Given the description of an element on the screen output the (x, y) to click on. 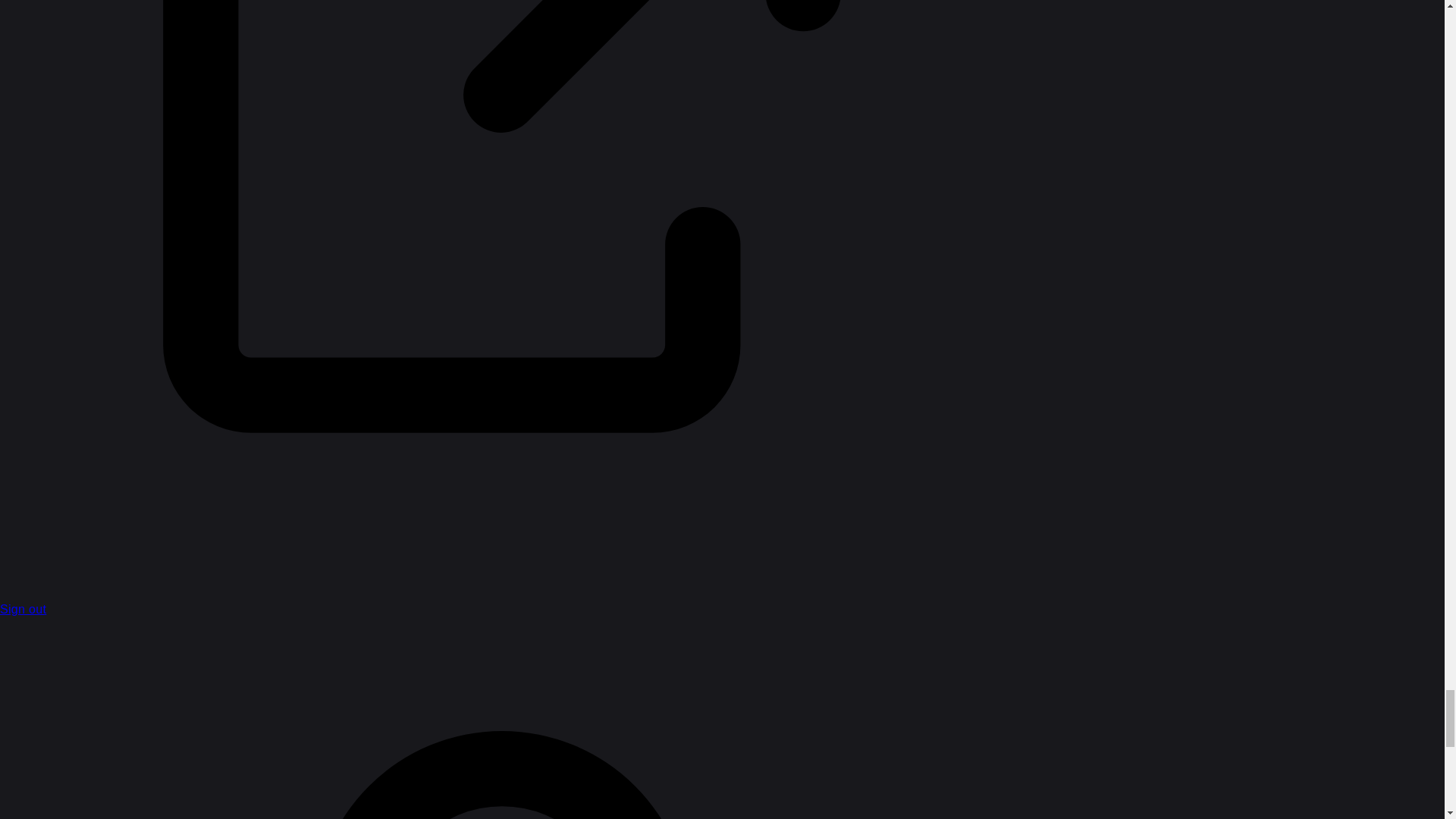
Open-World (615, 711)
this topic has been viewed 152 times (1306, 692)
copy a link to this post to clipboard (1259, 467)
Developer (438, 93)
Unreal Engine (593, 93)
Game Development (571, 181)
Report (846, 544)
question (565, 711)
Game Development (809, 93)
Report Post (1197, 467)
like this post (1229, 467)
Reply (926, 544)
this topic has been viewed 249 times (1306, 782)
Showcase (488, 181)
